Given the description of an element on the screen output the (x, y) to click on. 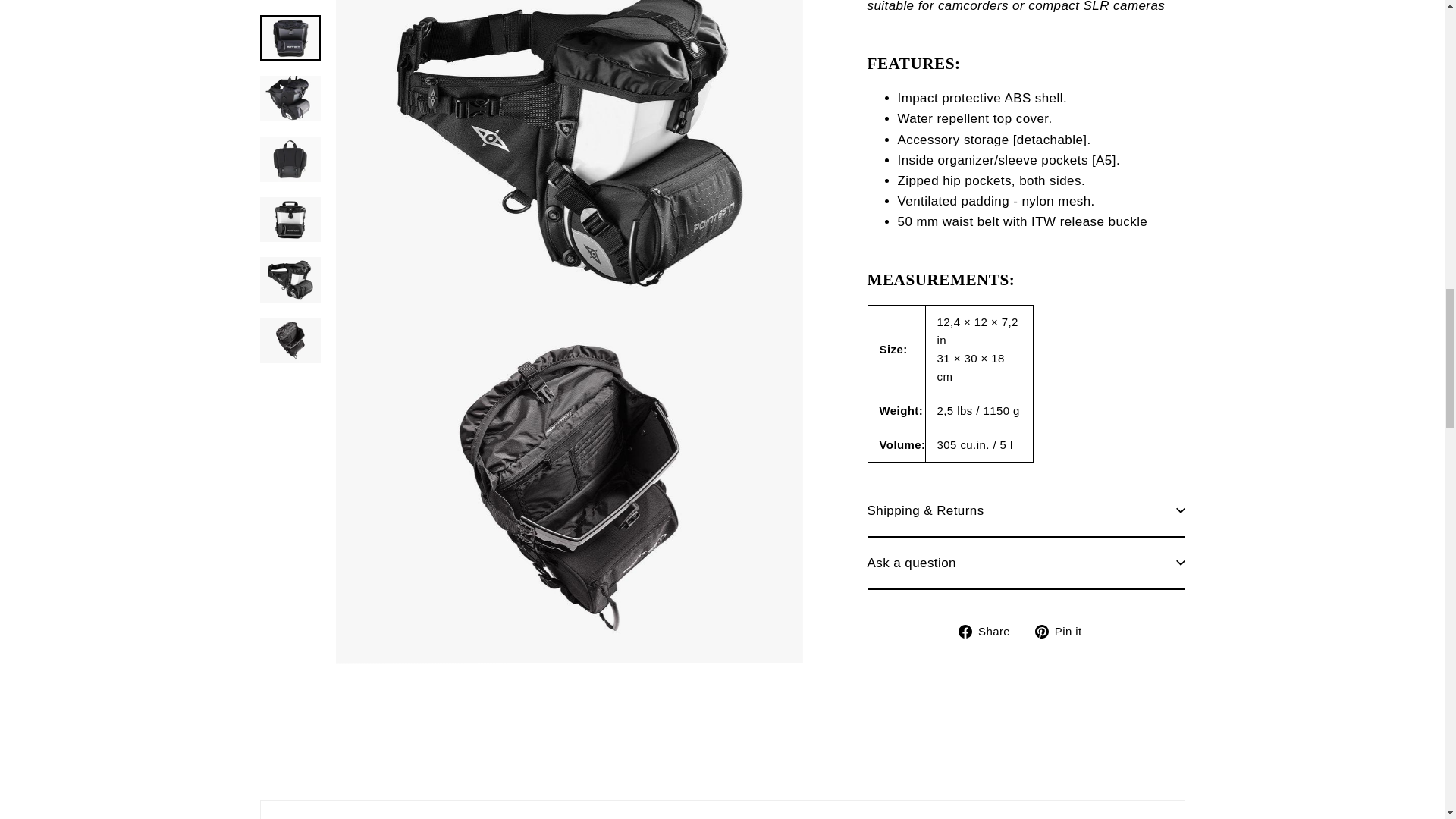
Share on Facebook (990, 9)
Pin on Pinterest (1064, 9)
